Given the description of an element on the screen output the (x, y) to click on. 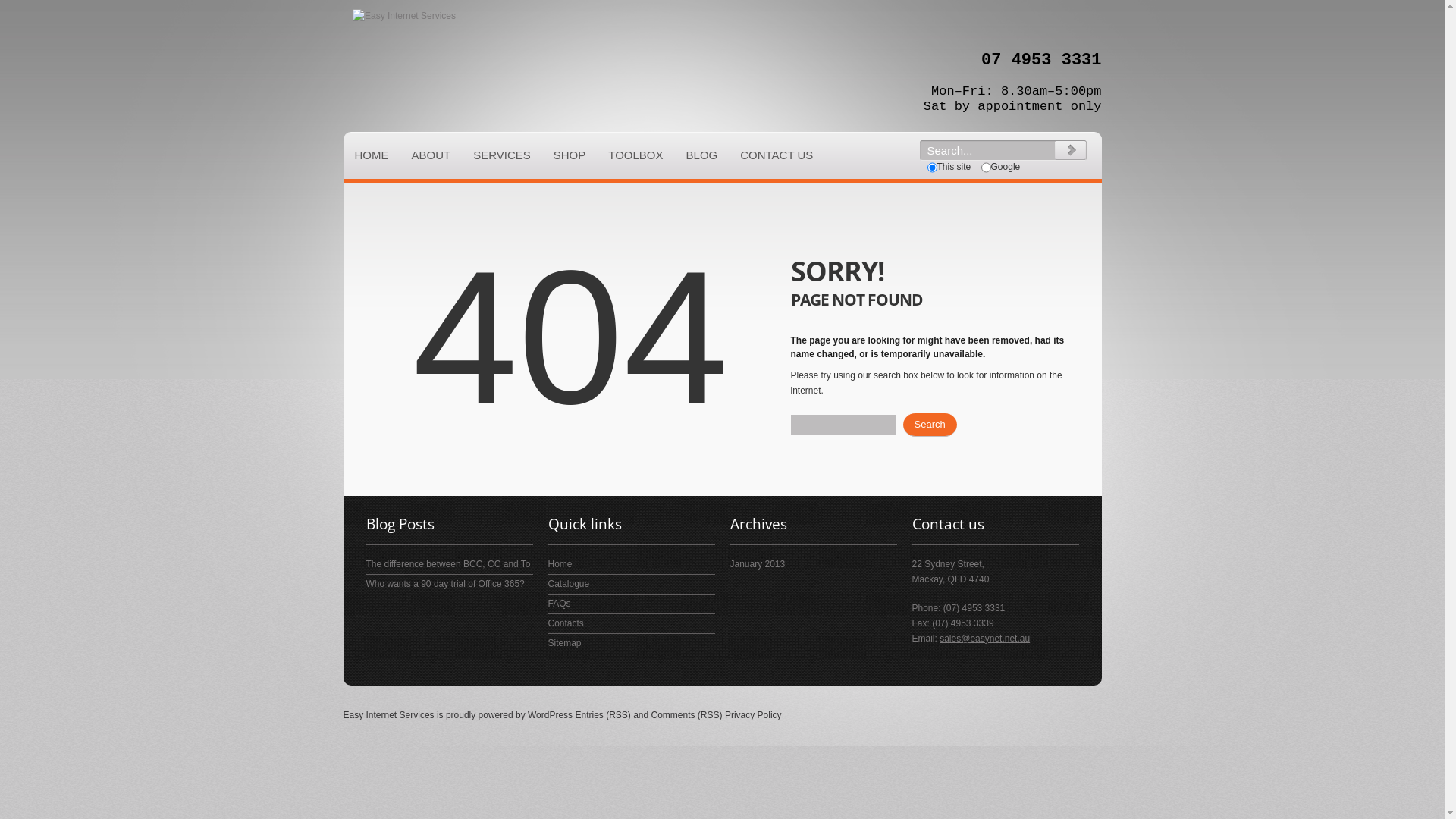
sales@easynet.net.au Element type: text (984, 638)
CONTACT US Element type: text (776, 155)
ISP, IT services, computer sales and repairs Mackay Element type: hover (403, 17)
Who wants a 90 day trial of Office 365? Element type: text (444, 583)
GO Element type: text (1069, 150)
HOME Element type: text (370, 155)
Search Element type: text (929, 424)
TOOLBOX Element type: text (635, 155)
Entries (RSS) Element type: text (602, 714)
Privacy Policy Element type: text (752, 714)
Contacts Element type: text (565, 623)
WordPress Element type: text (549, 714)
Home Element type: text (559, 563)
BLOG Element type: text (701, 155)
Comments (RSS) Element type: text (686, 714)
Catalogue Element type: text (568, 583)
Easy Internet Services Element type: text (387, 714)
January 2013 Element type: text (756, 563)
The difference between BCC, CC and To Element type: text (447, 563)
Sitemap Element type: text (563, 642)
SERVICES Element type: text (501, 155)
ABOUT Element type: text (431, 155)
SHOP Element type: text (569, 155)
FAQs Element type: text (558, 603)
